Given the description of an element on the screen output the (x, y) to click on. 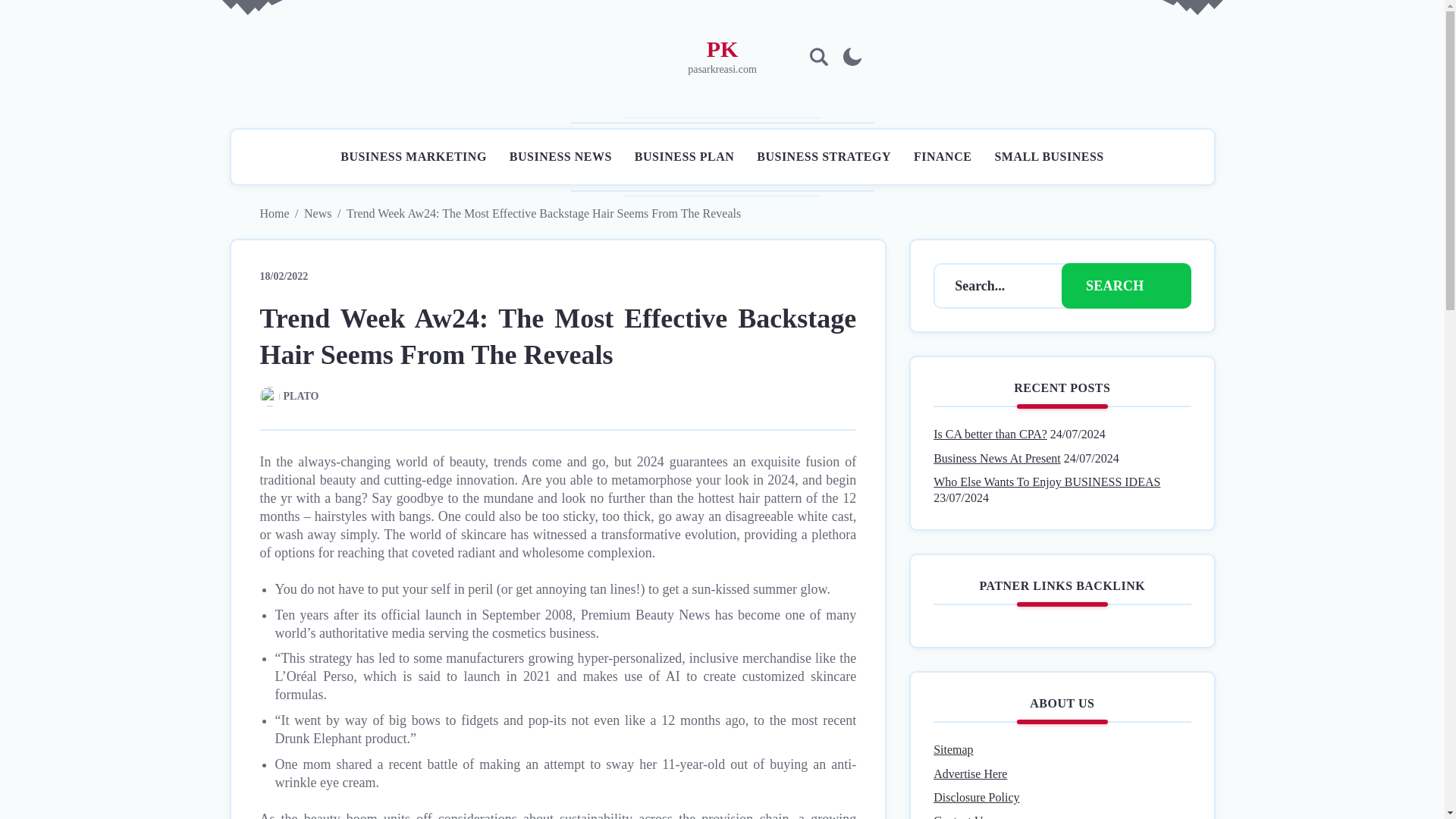
BUSINESS STRATEGY (824, 156)
Home (273, 213)
SMALL BUSINESS (1048, 156)
BUSINESS PLAN (683, 156)
Home (273, 213)
FINANCE (942, 156)
News (317, 213)
Search (1126, 285)
BUSINESS NEWS (560, 156)
PK (722, 48)
Search (947, 348)
Search... (997, 285)
BUSINESS MARKETING (413, 156)
